Given the description of an element on the screen output the (x, y) to click on. 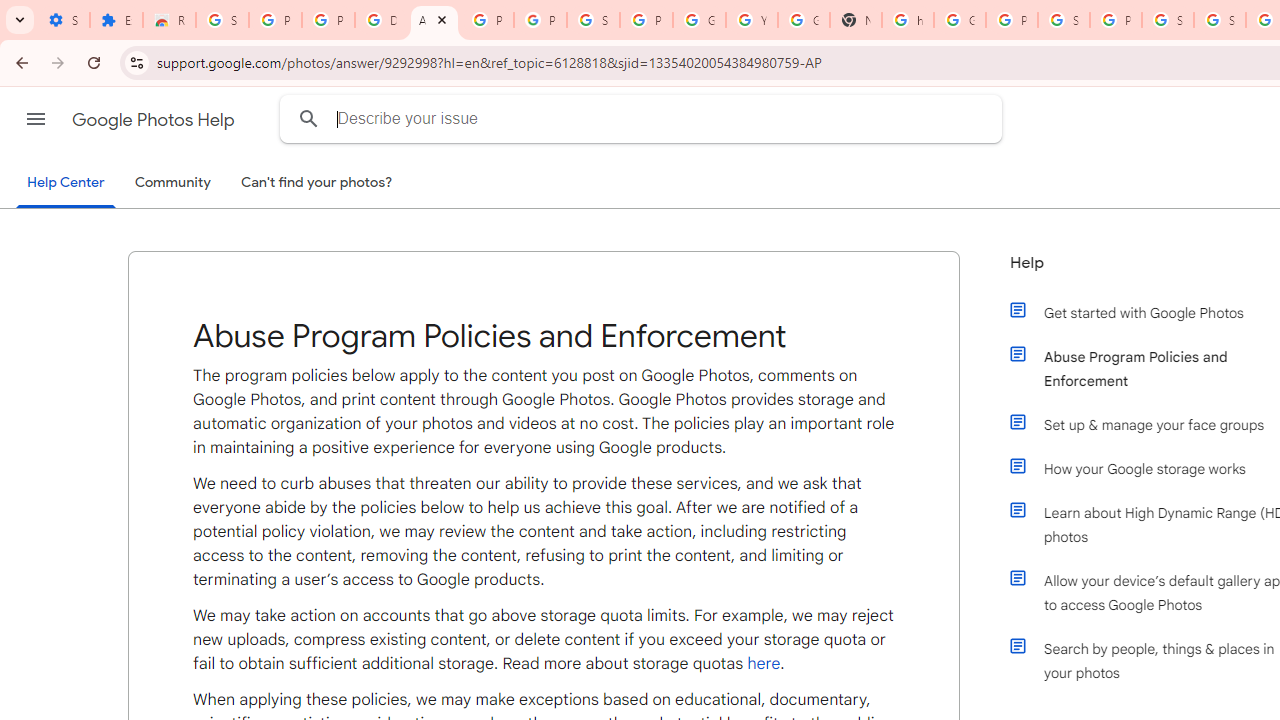
Sign in - Google Accounts (1167, 20)
Main menu (35, 119)
here (763, 663)
https://scholar.google.com/ (907, 20)
Can't find your photos? (317, 183)
YouTube (751, 20)
Reviews: Helix Fruit Jump Arcade Game (169, 20)
Help Center (65, 183)
Google Photos Help (155, 119)
Abuse Program Policies and Enforcement - Google Photos Help (434, 20)
